Given the description of an element on the screen output the (x, y) to click on. 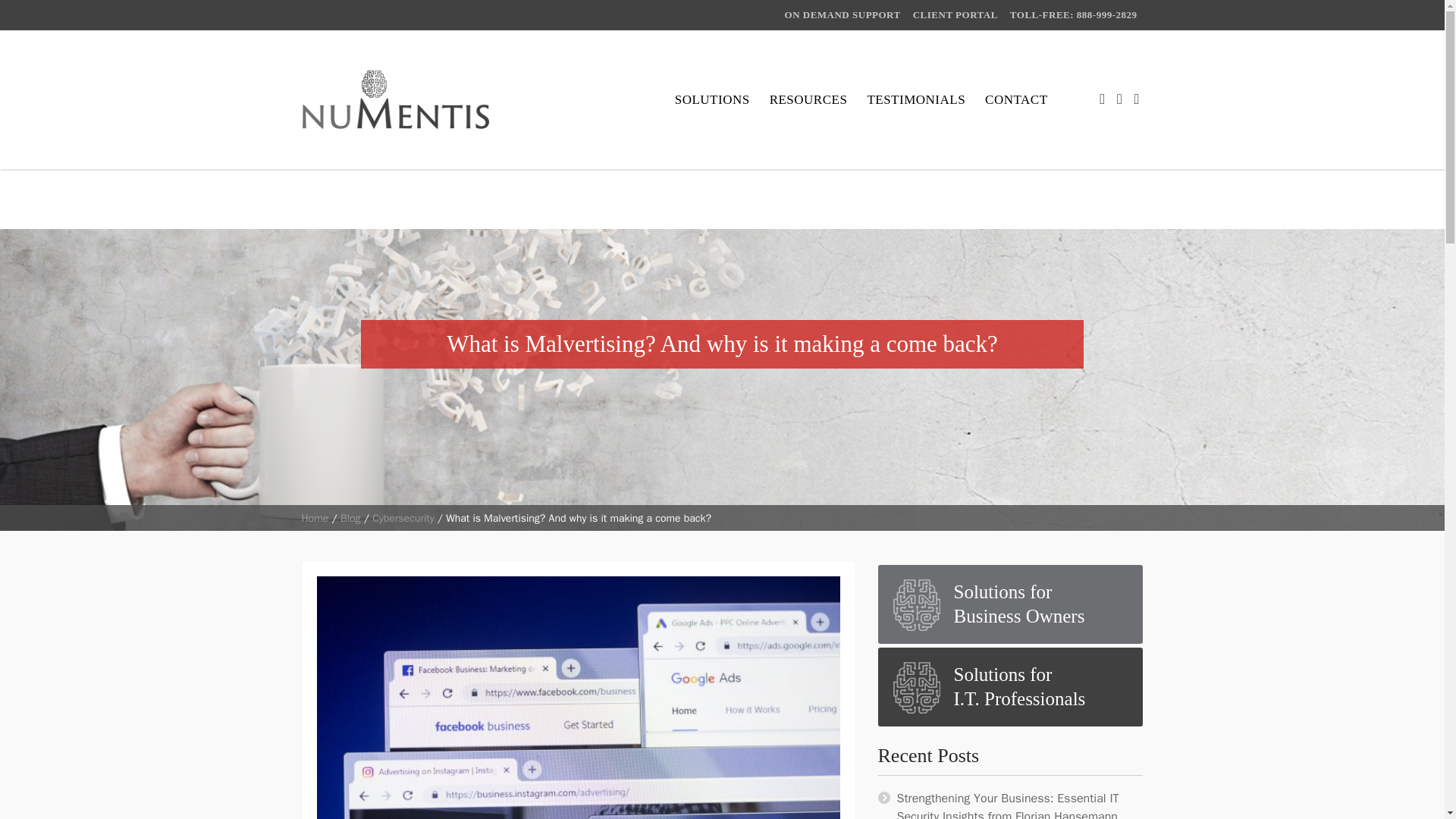
SOLUTIONS (712, 99)
ON DEMAND SUPPORT (1009, 604)
Home (842, 15)
TESTIMONIALS (315, 517)
Home (916, 99)
CLIENT PORTAL (315, 517)
CONTACT (955, 15)
What is Malvertising? And why is it making a come back? (1009, 686)
